Given the description of an element on the screen output the (x, y) to click on. 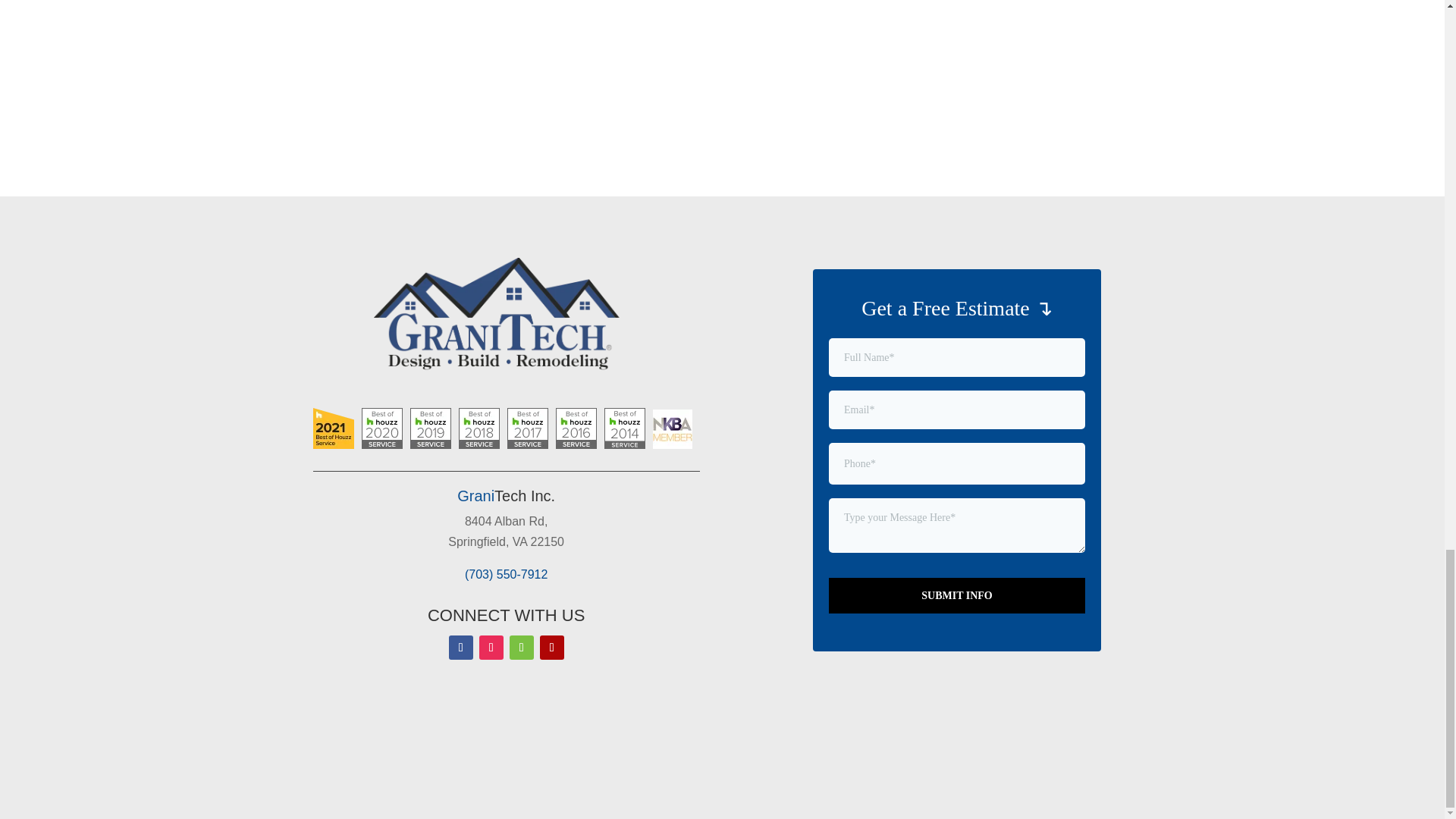
nkba (671, 428)
2019 (429, 427)
2021 (333, 427)
2016 (574, 427)
2018 (478, 427)
2017 (526, 427)
Follow on Facebook (460, 647)
2020 (381, 427)
2014 (624, 427)
granitech-logo-new (506, 317)
